Given the description of an element on the screen output the (x, y) to click on. 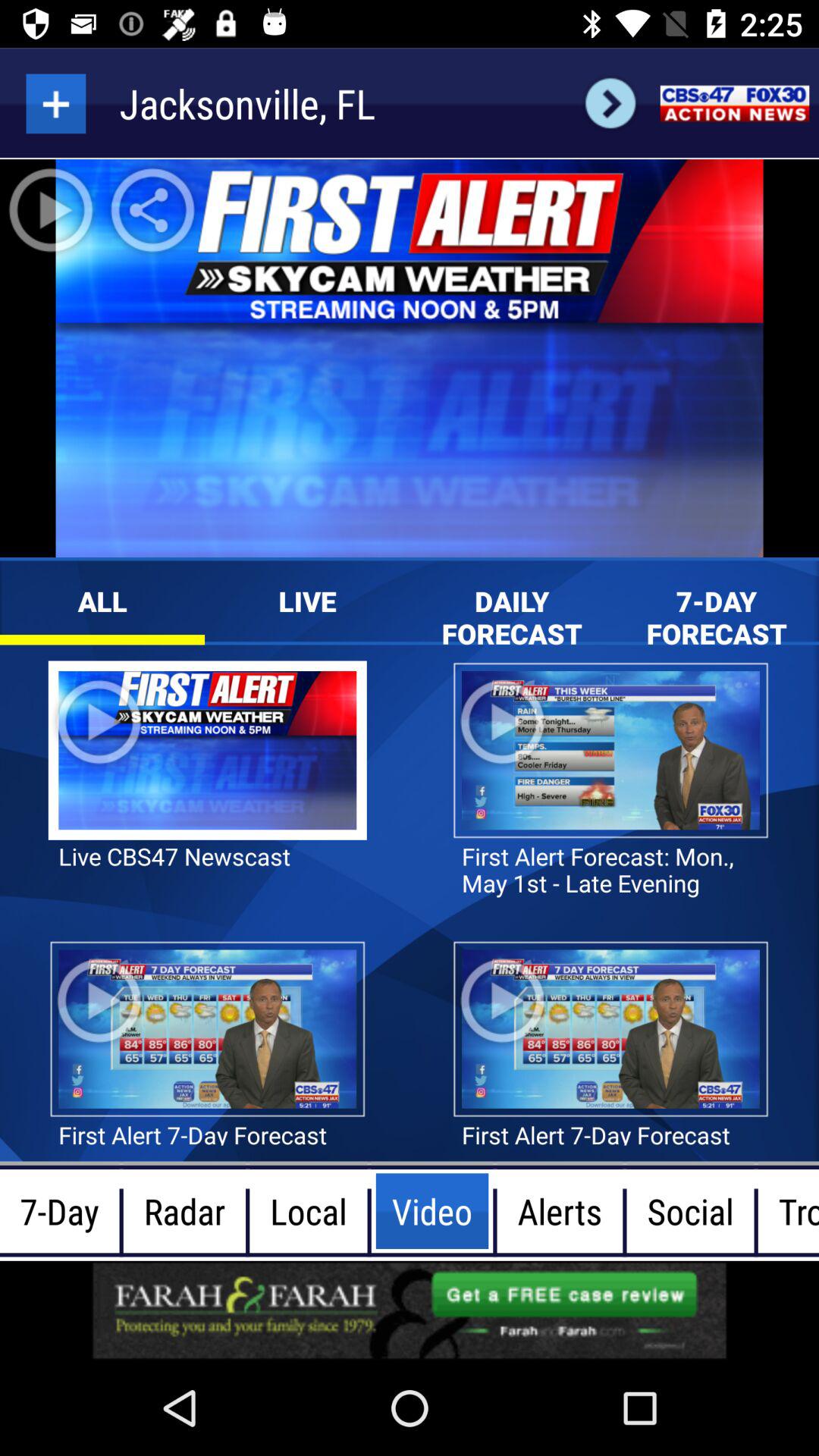
go to the news homepage (734, 103)
